Given the description of an element on the screen output the (x, y) to click on. 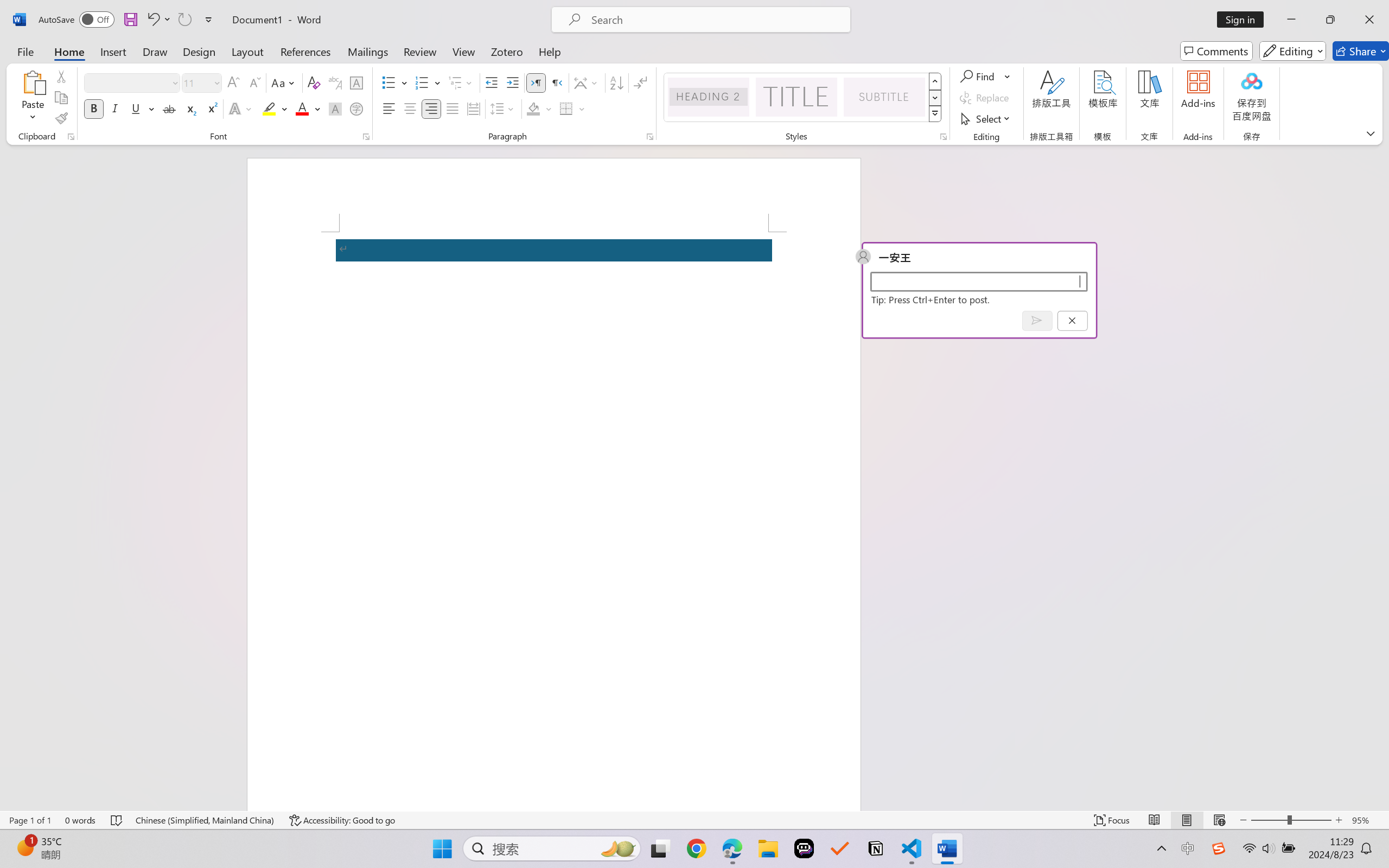
Sign in (1244, 19)
Undo (152, 19)
